Given the description of an element on the screen output the (x, y) to click on. 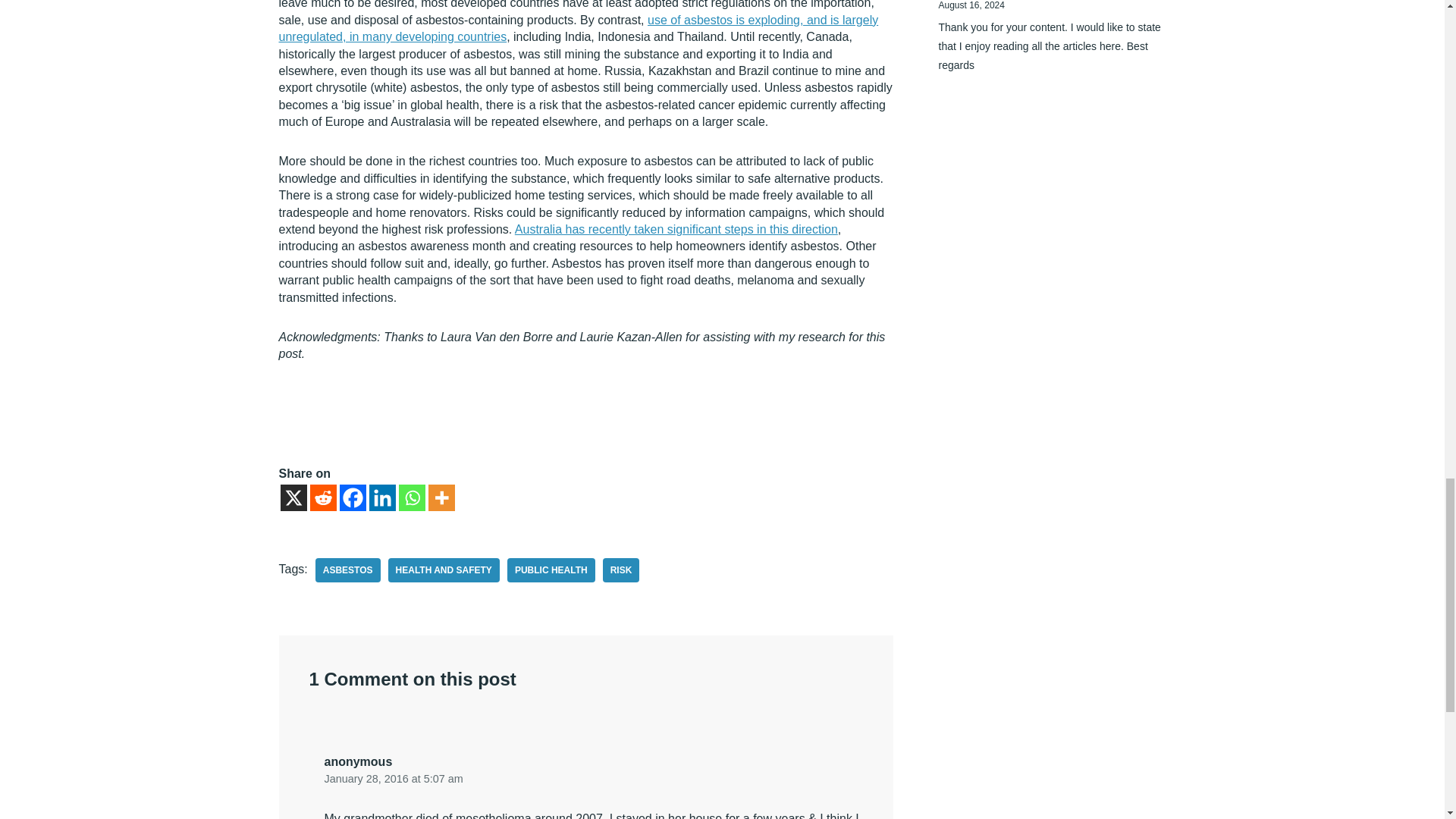
asbestos (347, 569)
Facebook (352, 497)
More (441, 497)
Whatsapp (411, 497)
Reddit (322, 497)
risk (621, 569)
Linkedin (381, 497)
X (294, 497)
Public Health (550, 569)
